Given the description of an element on the screen output the (x, y) to click on. 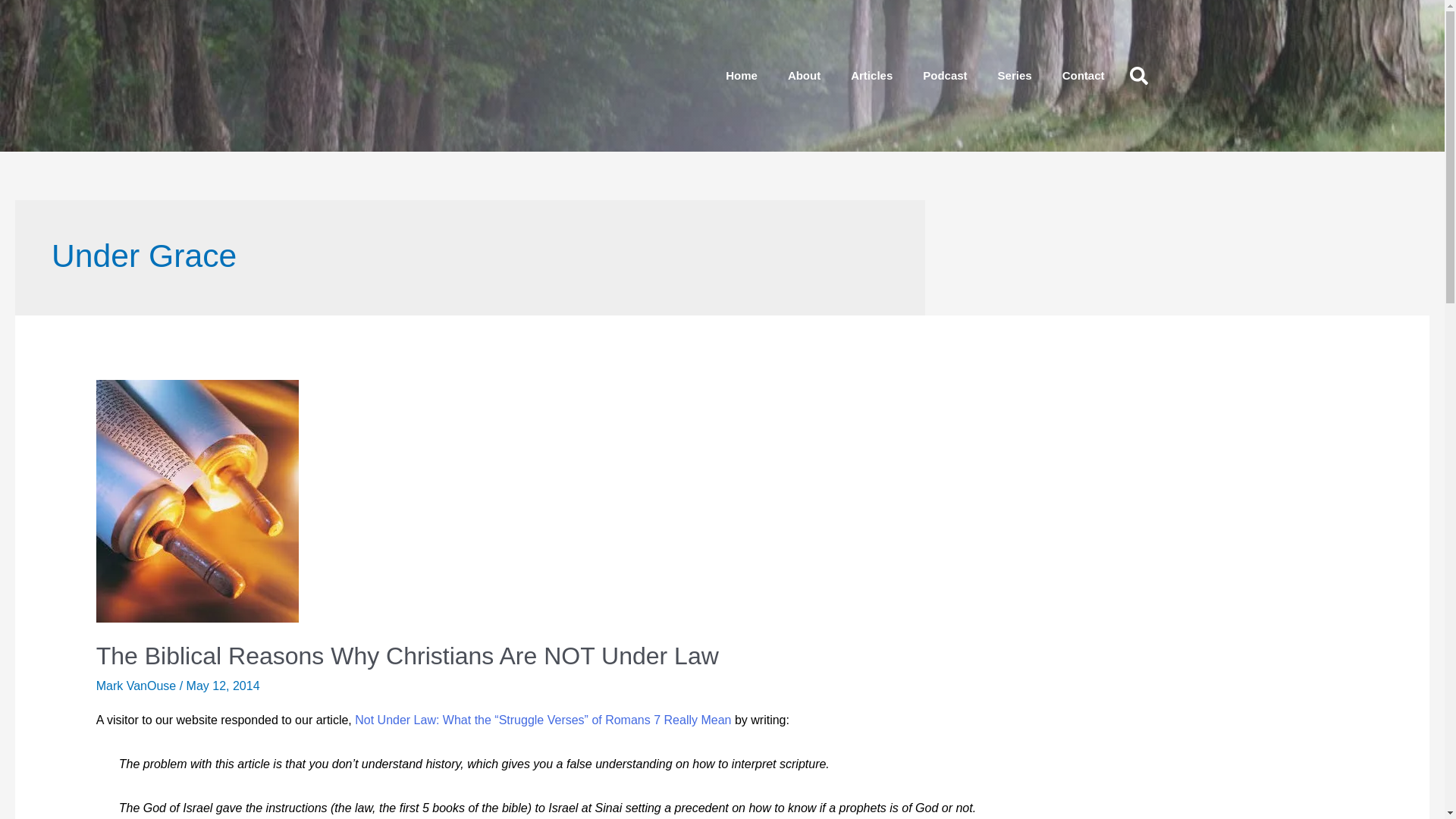
Mark VanOuse (137, 685)
Home (741, 75)
Podcast (944, 75)
The Biblical Reasons Why Christians Are NOT Under Law (407, 655)
Articles (871, 75)
Series (1014, 75)
View all posts by Mark VanOuse (137, 685)
Contact (1082, 75)
About (804, 75)
